Given the description of an element on the screen output the (x, y) to click on. 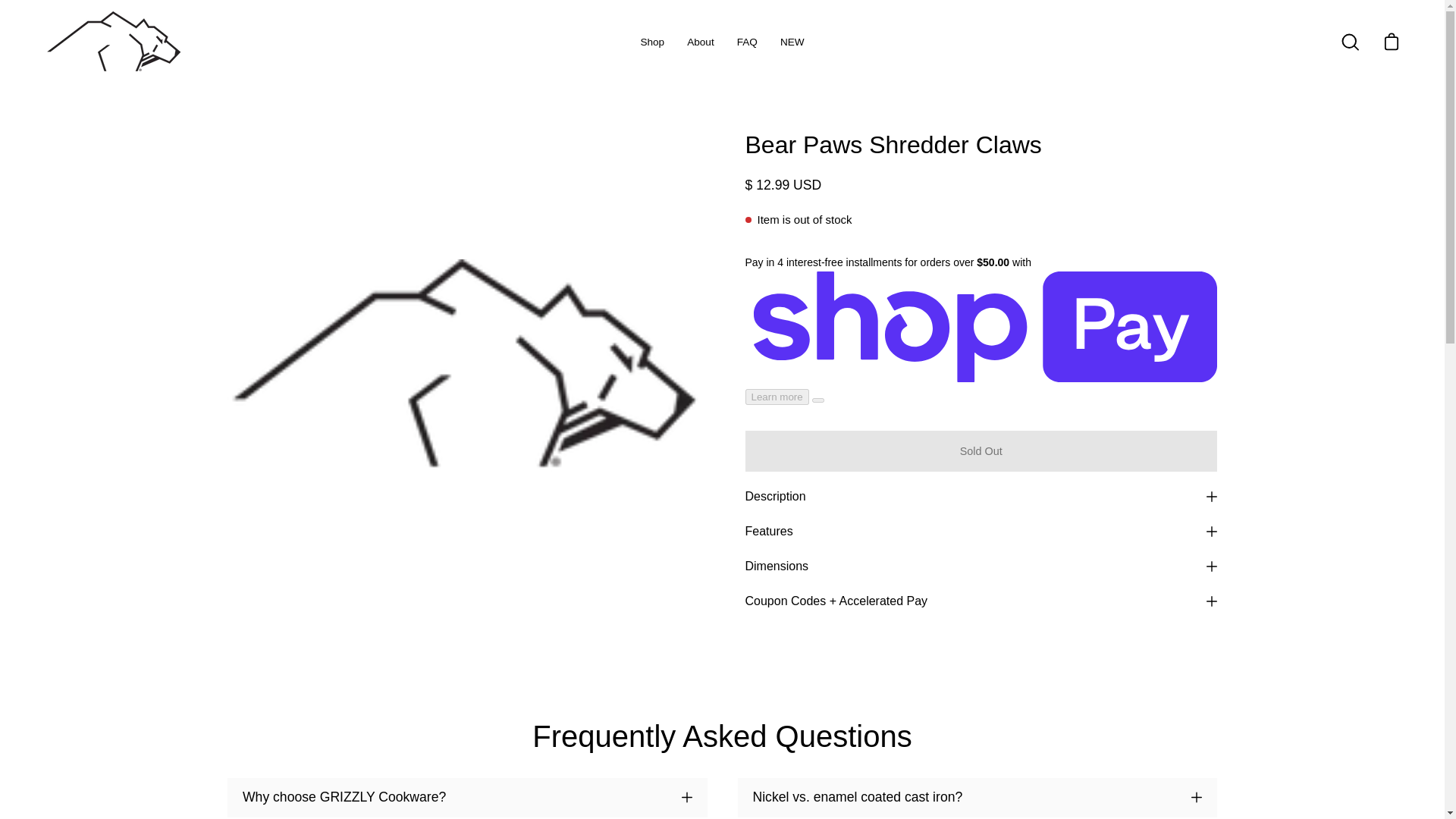
Description (980, 496)
Open cart (1390, 41)
Features (980, 531)
Open search bar (1350, 41)
Sold Out (980, 450)
